Given the description of an element on the screen output the (x, y) to click on. 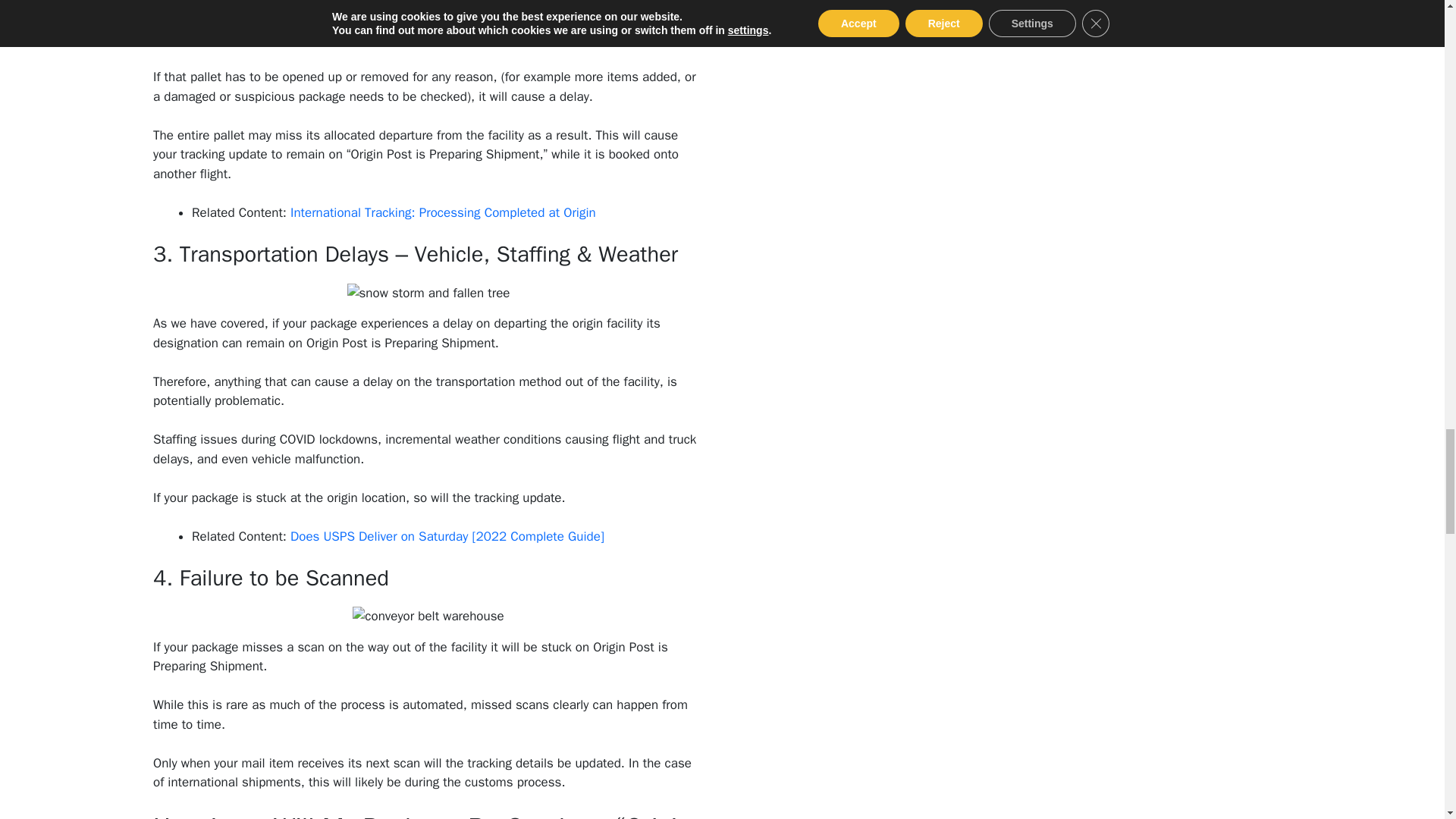
International Tracking: Processing Completed at Origin (442, 212)
USPS "Origin Post Is Preparing Shipment" Meaning 6 (429, 298)
USPS "Origin Post Is Preparing Shipment" Meaning 7 (427, 622)
